Given the description of an element on the screen output the (x, y) to click on. 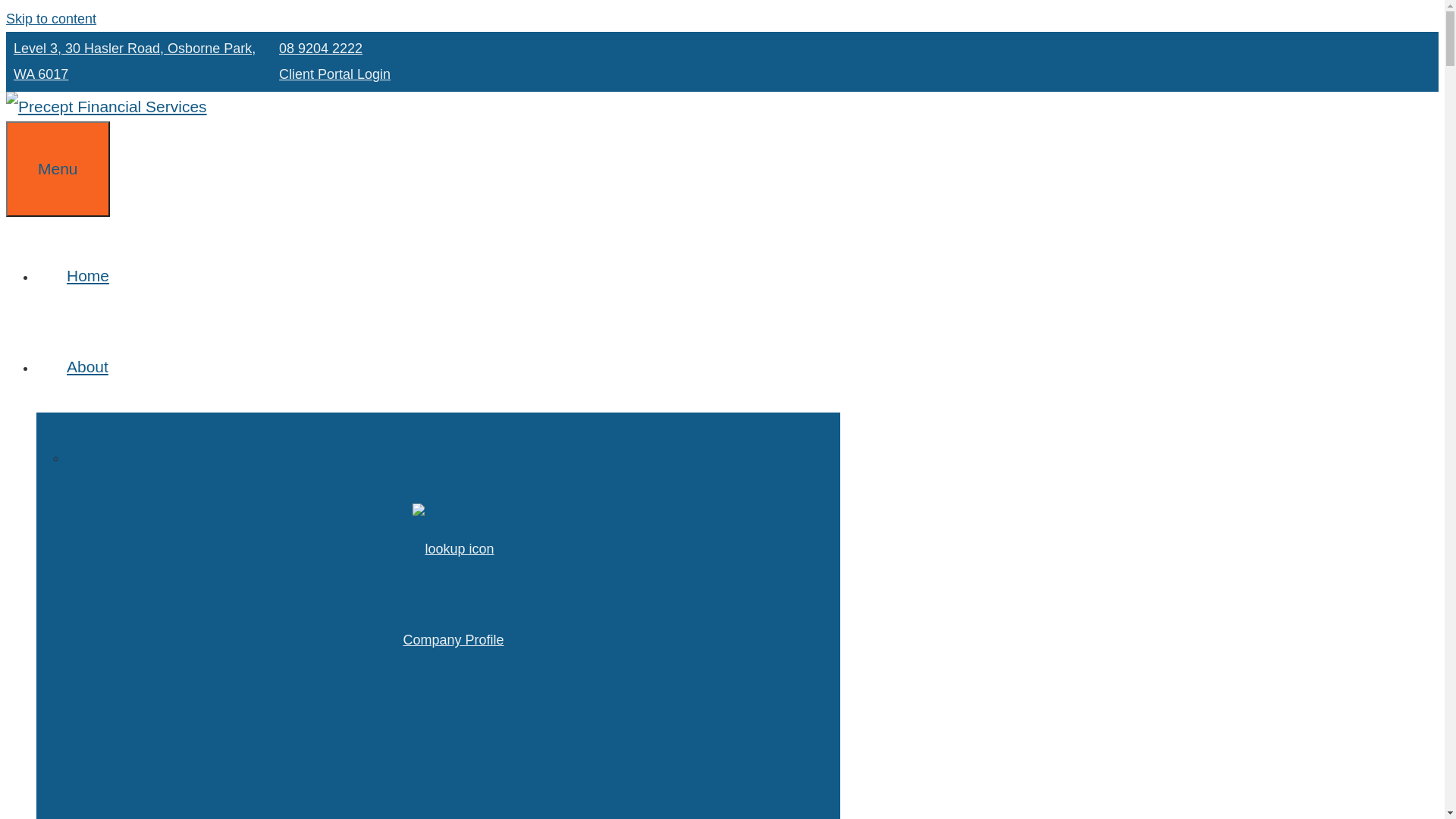
Precept Financial Services Element type: hover (106, 106)
Client Portal Login Element type: text (334, 73)
Company Profile Element type: text (453, 594)
08 9204 2222 Element type: text (320, 48)
Home Element type: text (87, 275)
About Element type: text (102, 366)
Skip to content Element type: text (51, 18)
Level 3, 30 Hasler Road, Osborne Park, WA 6017 Element type: text (134, 60)
Menu Element type: text (57, 168)
